Given the description of an element on the screen output the (x, y) to click on. 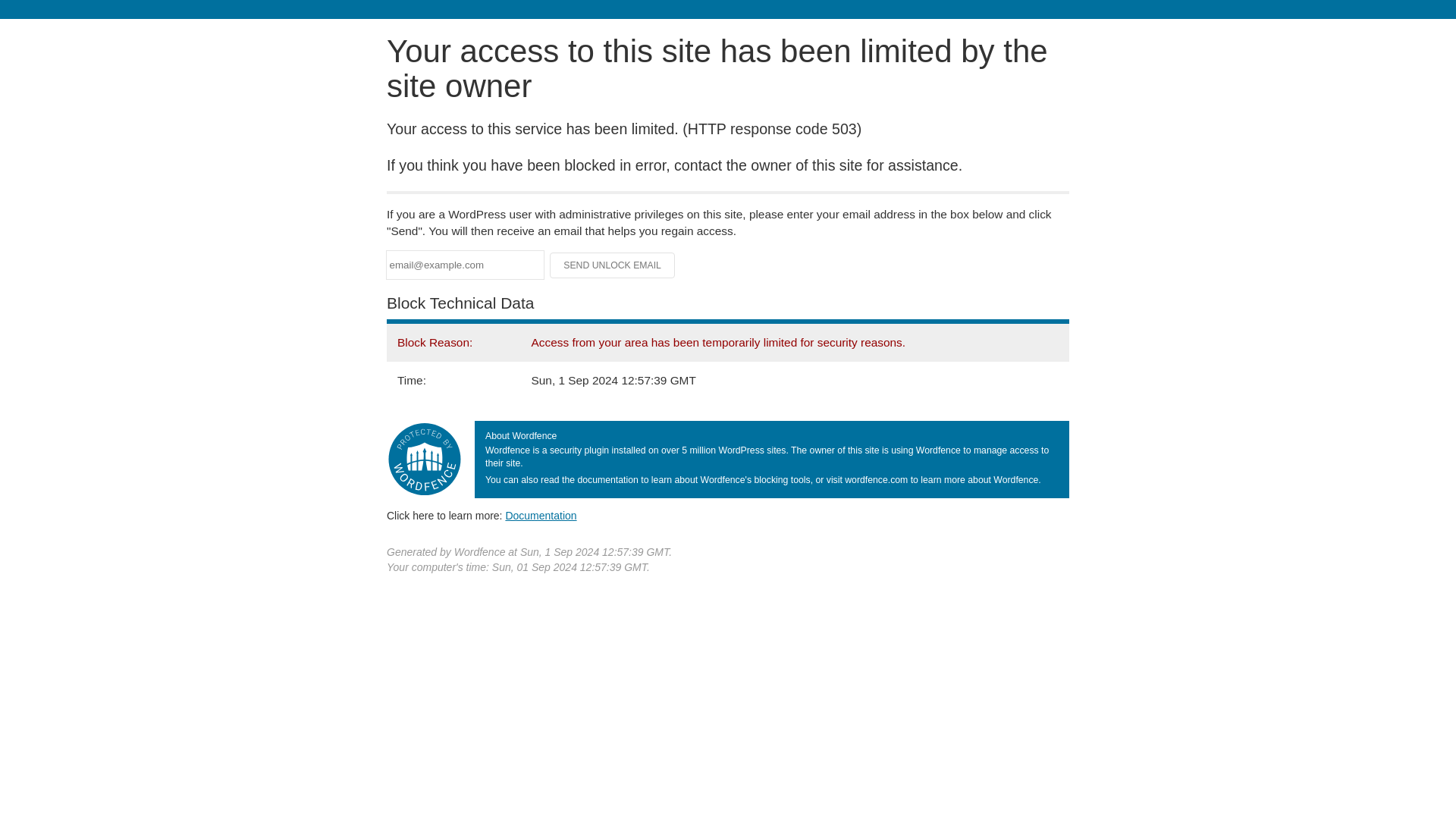
Send Unlock Email (612, 265)
Documentation (540, 515)
Send Unlock Email (612, 265)
